Given the description of an element on the screen output the (x, y) to click on. 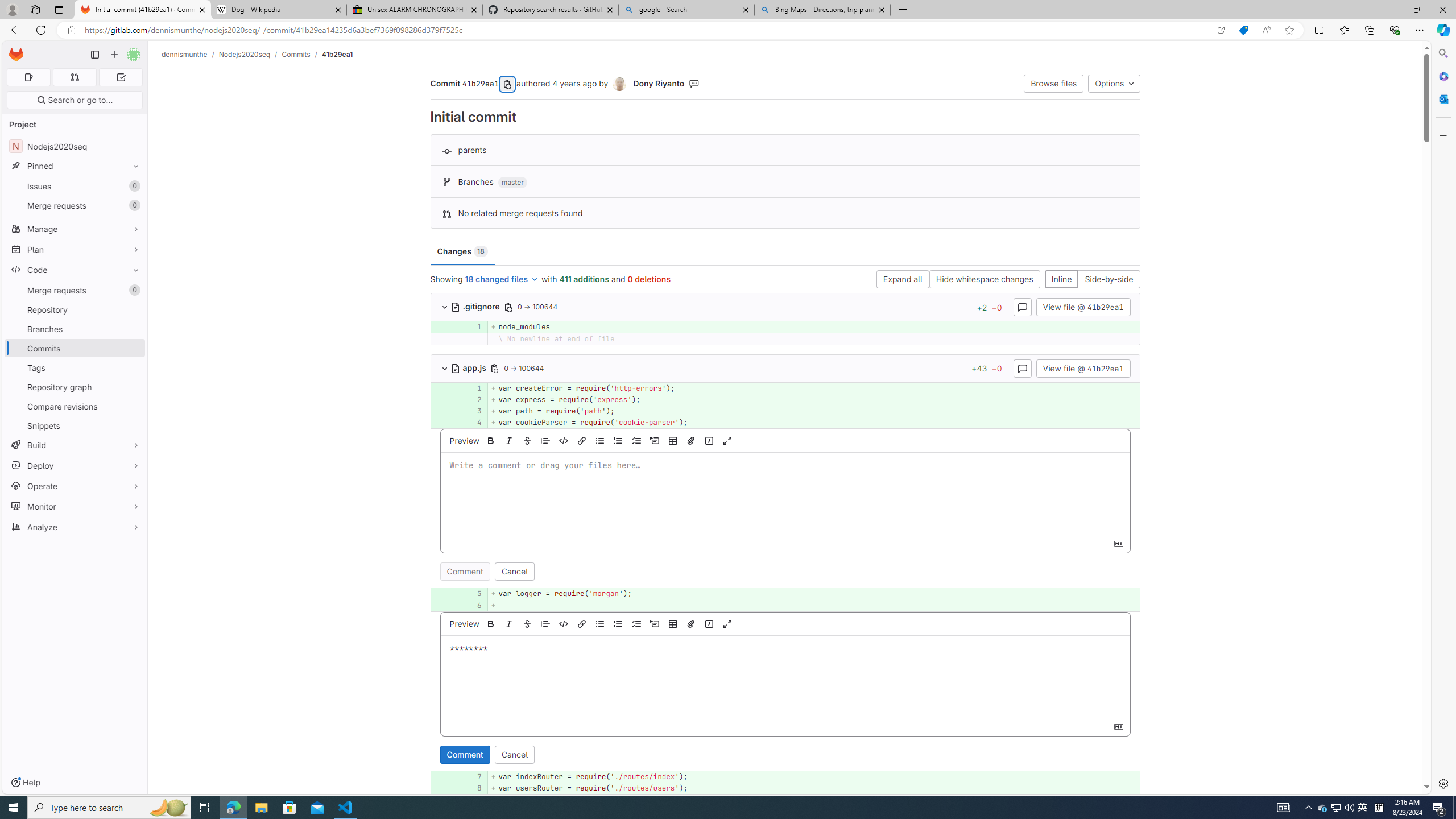
Add a collapsible section (654, 623)
Changes 18 (462, 251)
Compare revisions (74, 406)
Go full screen (726, 623)
+ var cookieParser = require('cookie-parser');  (813, 422)
8 (472, 788)
Browse files (1053, 83)
View file @ 41b29ea1 (1083, 367)
Dog - Wikipedia (277, 9)
Issues 0 (74, 185)
Insert a quote (544, 623)
AutomationID: 4a68969ef8e858229267b842dedf42ab5dde4d50_0_7 (785, 776)
Class: notes_holder js-temp-notes-holder (785, 690)
